Given the description of an element on the screen output the (x, y) to click on. 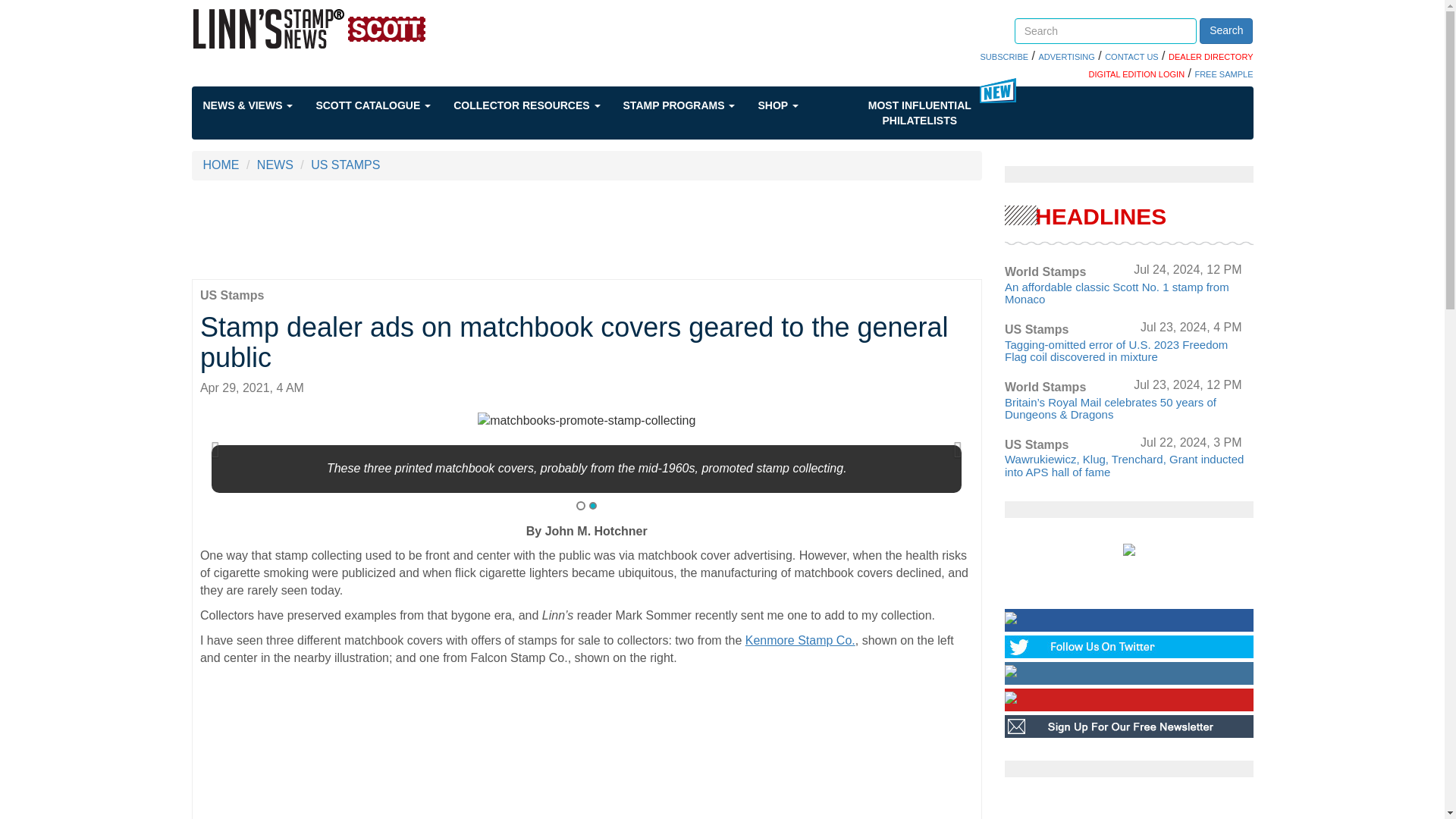
FREE SAMPLE (1222, 73)
Search input (1105, 31)
DEALER DIRECTORY (1210, 56)
SCOTT CATALOGUE (383, 105)
Linn's Stamp News (352, 28)
matchbooks-promote-stamp-collecting (586, 420)
DIGITAL EDITION LOGIN (1137, 73)
SUBSCRIBE (1004, 56)
COLLECTOR RESOURCES (537, 105)
Search (1225, 31)
CONTACT US (1131, 56)
ADVERTISING (1066, 56)
